Given the description of an element on the screen output the (x, y) to click on. 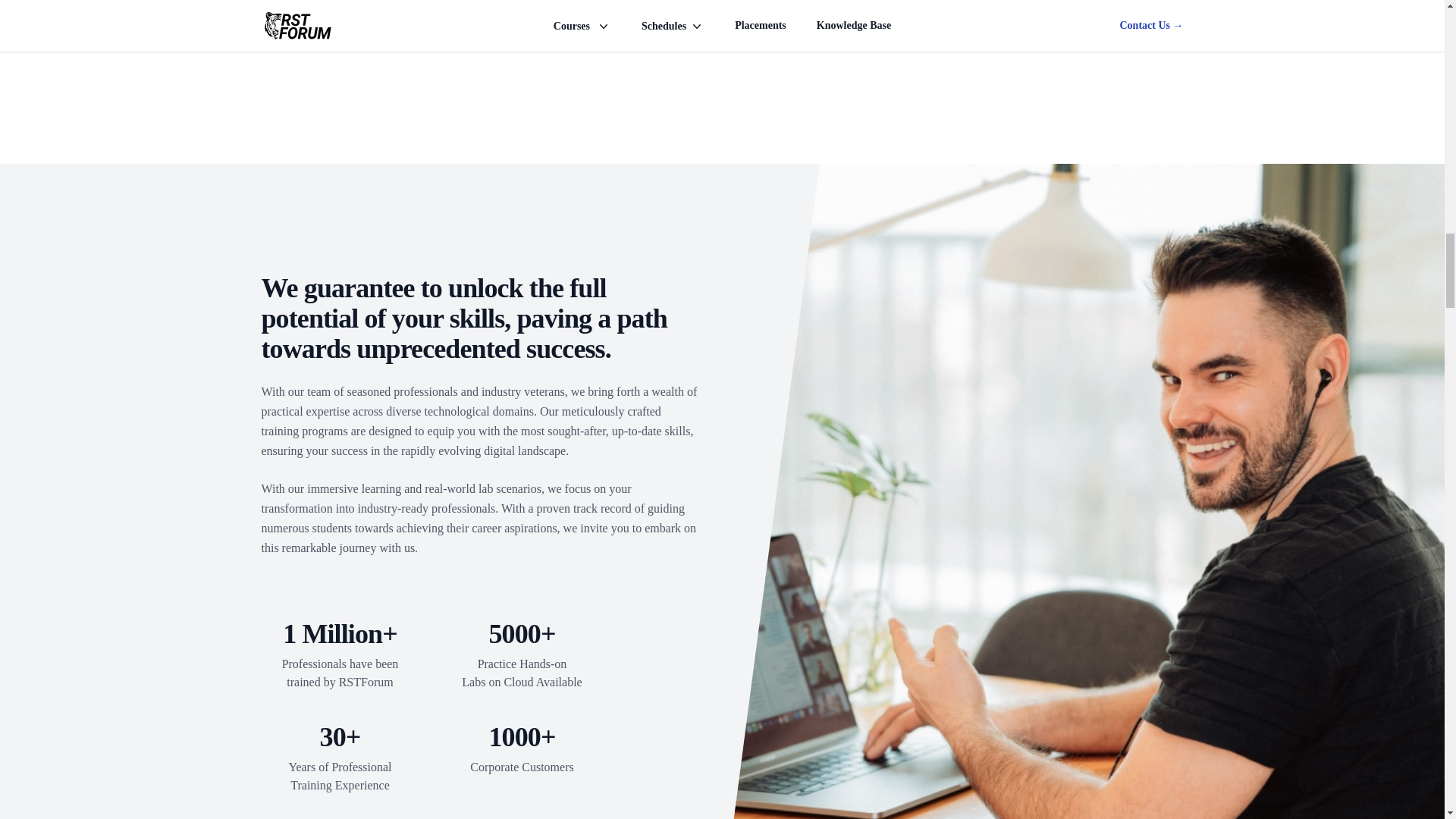
Get Course Brochures (722, 15)
